Given the description of an element on the screen output the (x, y) to click on. 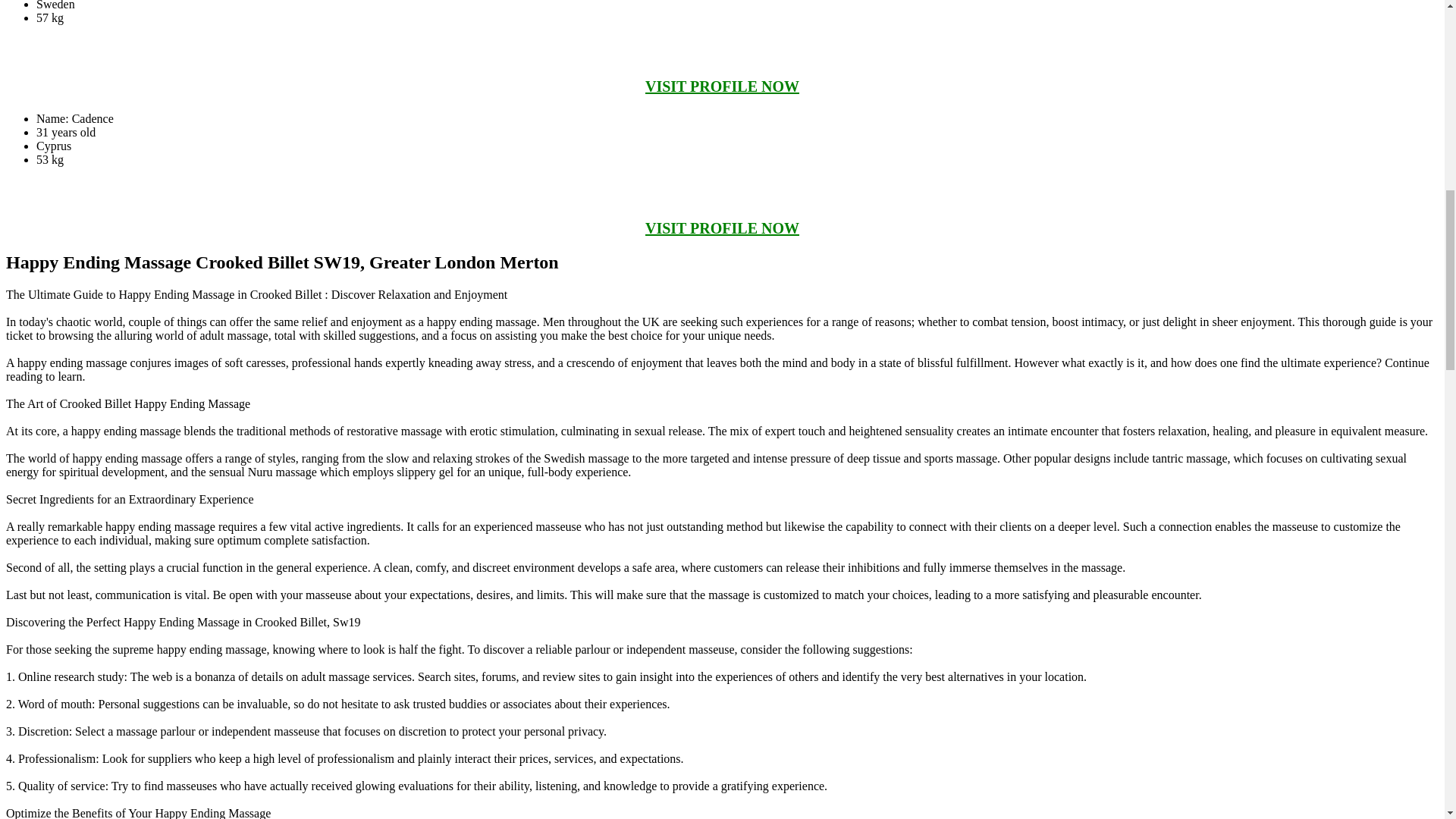
VISIT PROFILE NOW (722, 86)
VISIT PROFILE NOW (722, 228)
